Given the description of an element on the screen output the (x, y) to click on. 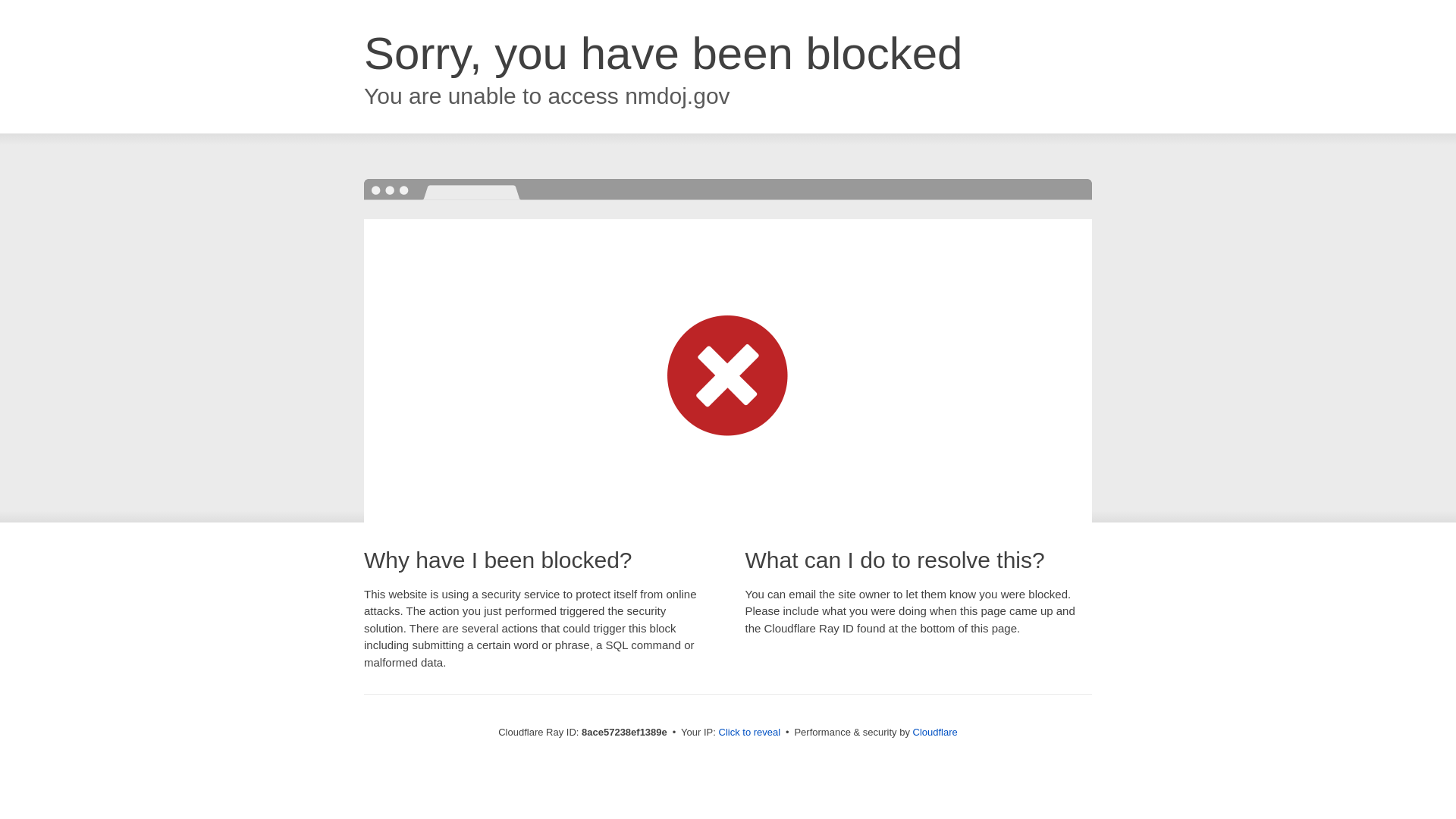
Click to reveal (747, 732)
Cloudflare (933, 731)
